Given the description of an element on the screen output the (x, y) to click on. 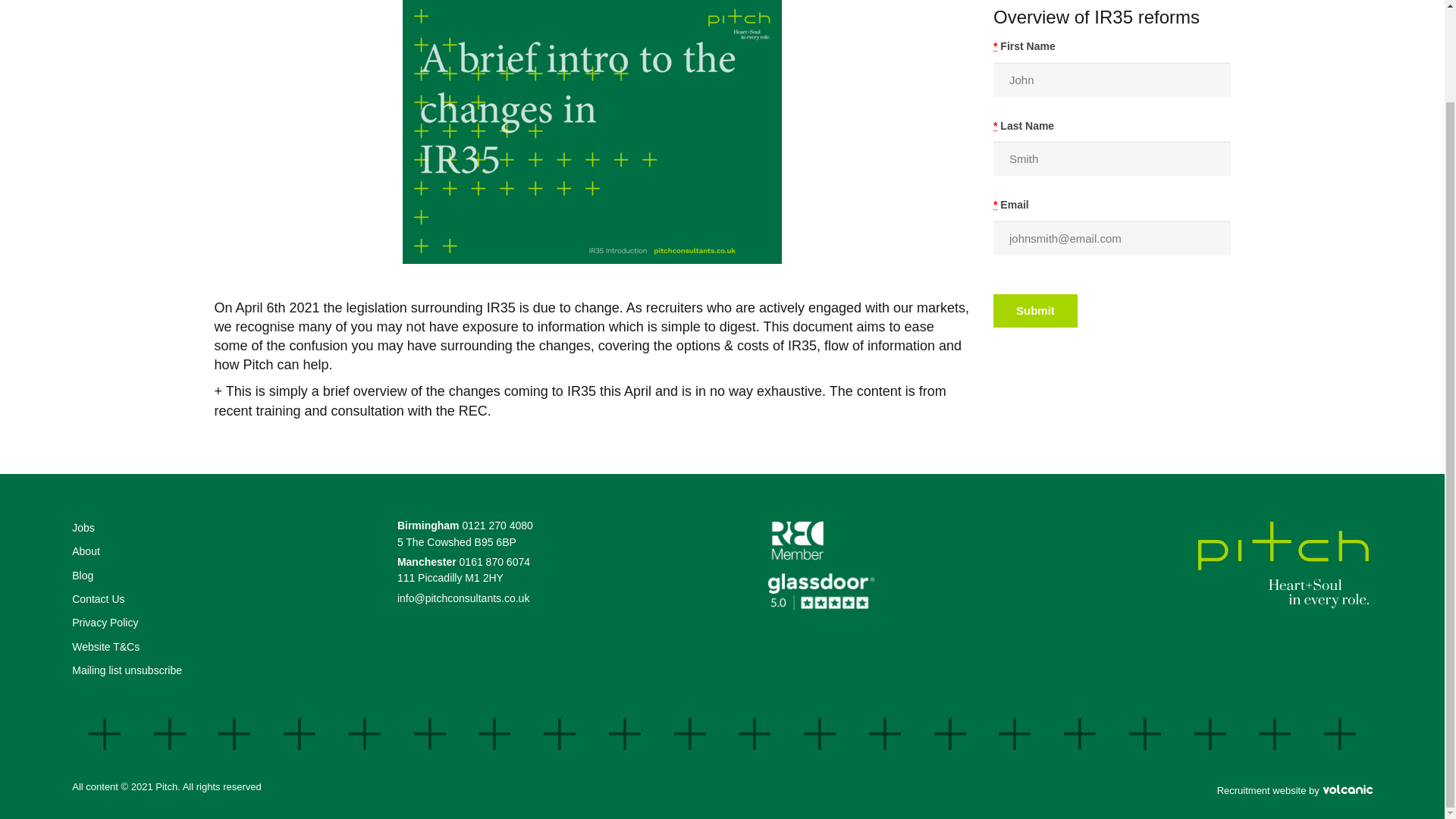
Submit (1034, 310)
Submit (1034, 310)
About (85, 551)
Jobs (82, 527)
Blog (82, 575)
Go to the Homepage (1283, 566)
Contact Us (97, 599)
